Given the description of an element on the screen output the (x, y) to click on. 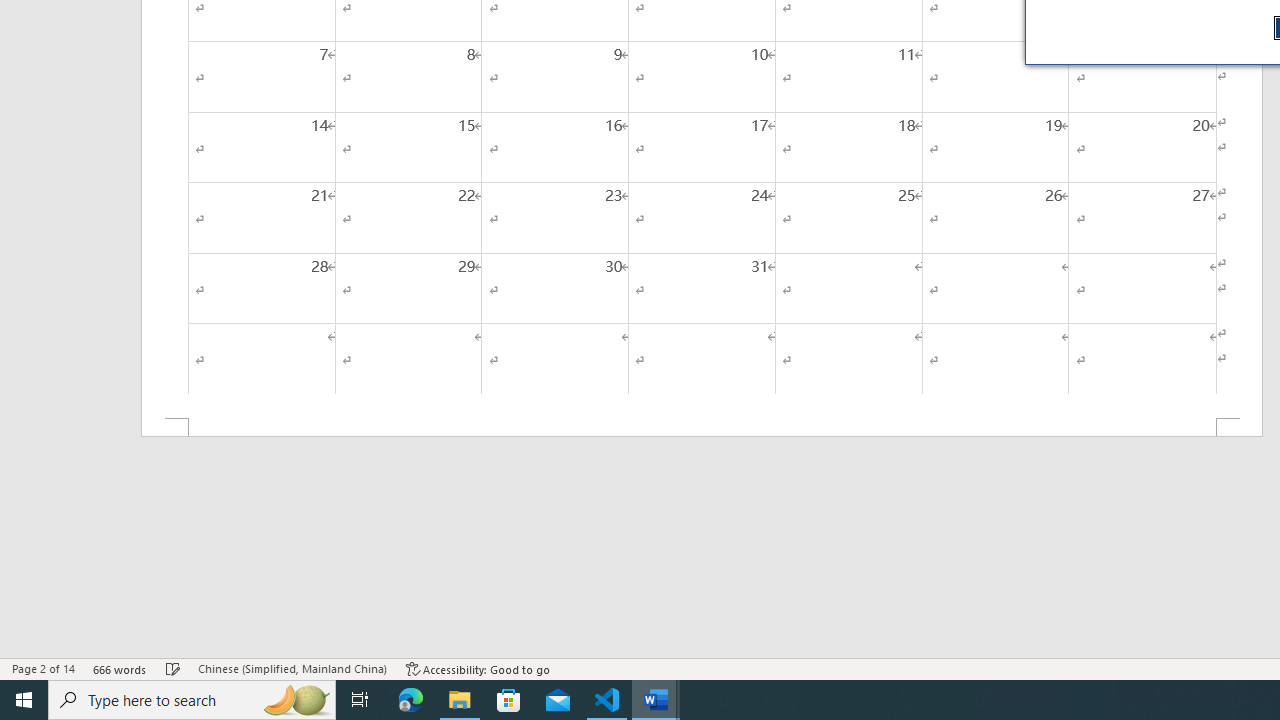
Page Number Page 2 of 14 (43, 668)
File Explorer - 1 running window (460, 699)
Word Count 666 words (119, 668)
Word - 2 running windows (656, 699)
